Given the description of an element on the screen output the (x, y) to click on. 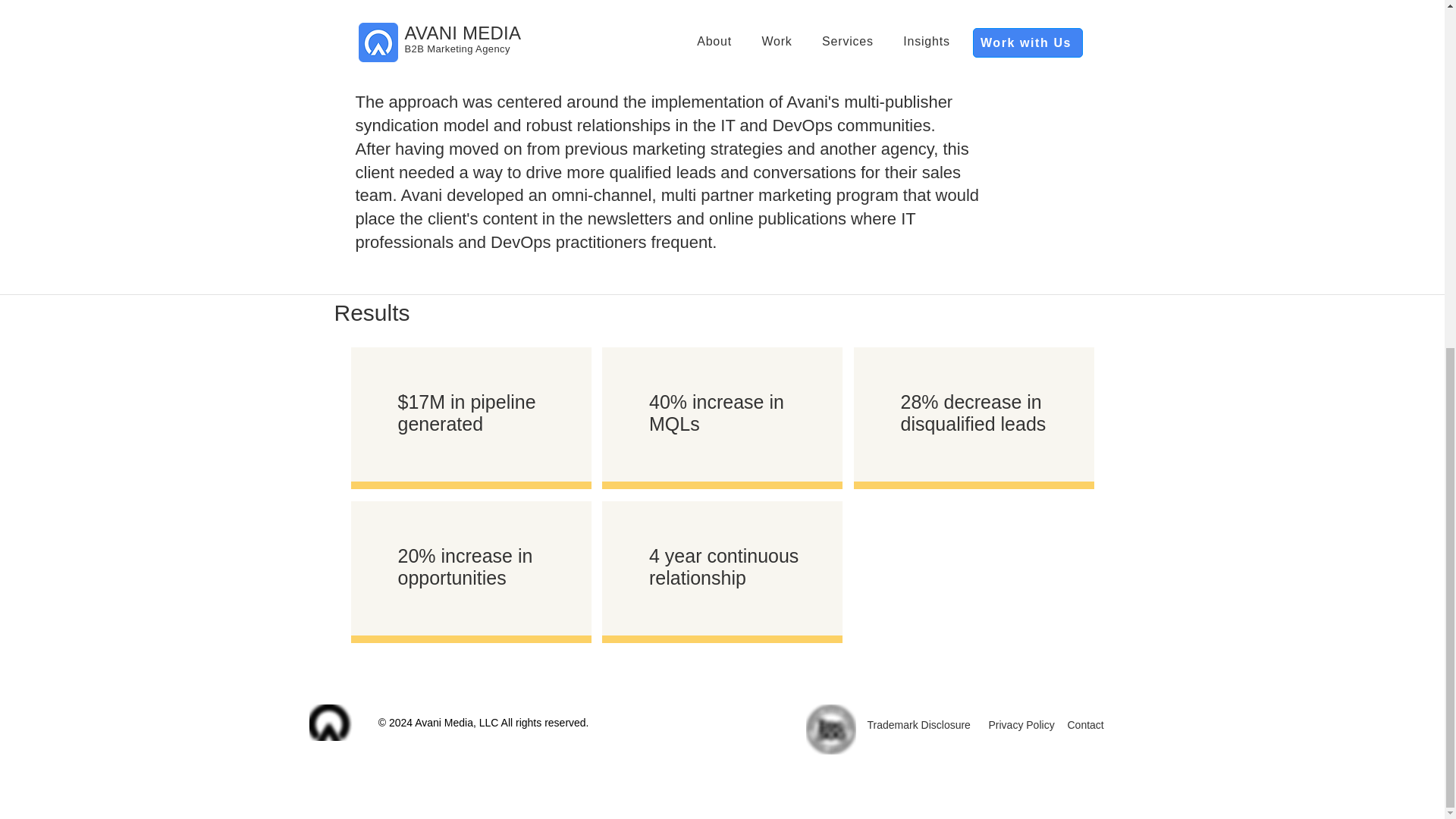
Privacy Policy (1021, 725)
Contact (1085, 725)
Trademark Disclosure (919, 725)
